Given the description of an element on the screen output the (x, y) to click on. 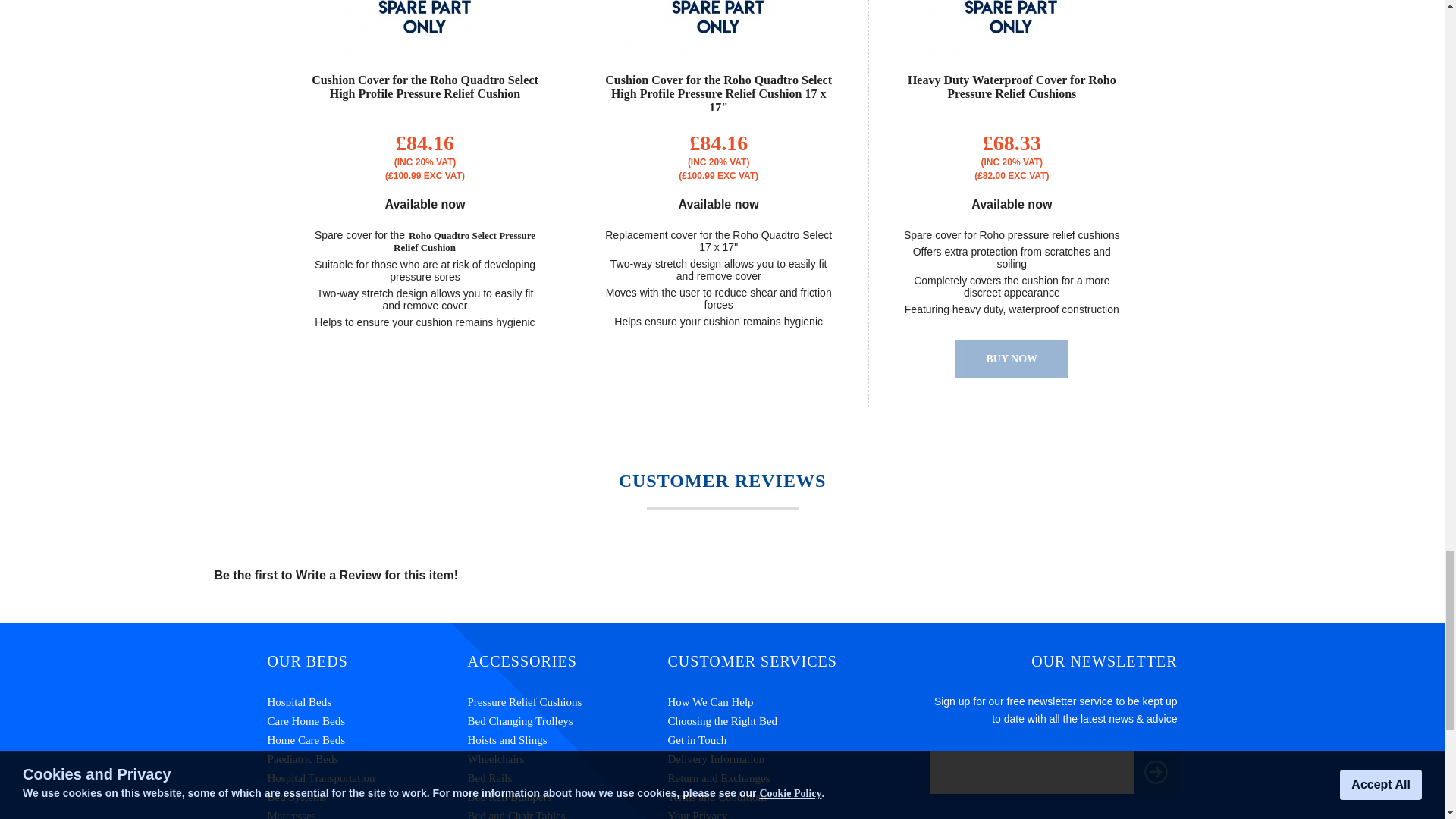
Hospital Transportation (366, 778)
Bed Systems (366, 796)
Roho Quadtro Select Pressure Relief Cushion (464, 241)
BUY NOW (1011, 359)
Hospital Beds (366, 701)
Pressure Relief Cushions (566, 701)
Bed Rail Bumpers (566, 796)
Wheelchairs (566, 759)
Write a Review (338, 574)
Hoists and Slings (566, 740)
Paediatric Beds (366, 759)
Home Care Beds (366, 740)
Bed Changing Trolleys (566, 721)
Bed Rails (566, 778)
